Given the description of an element on the screen output the (x, y) to click on. 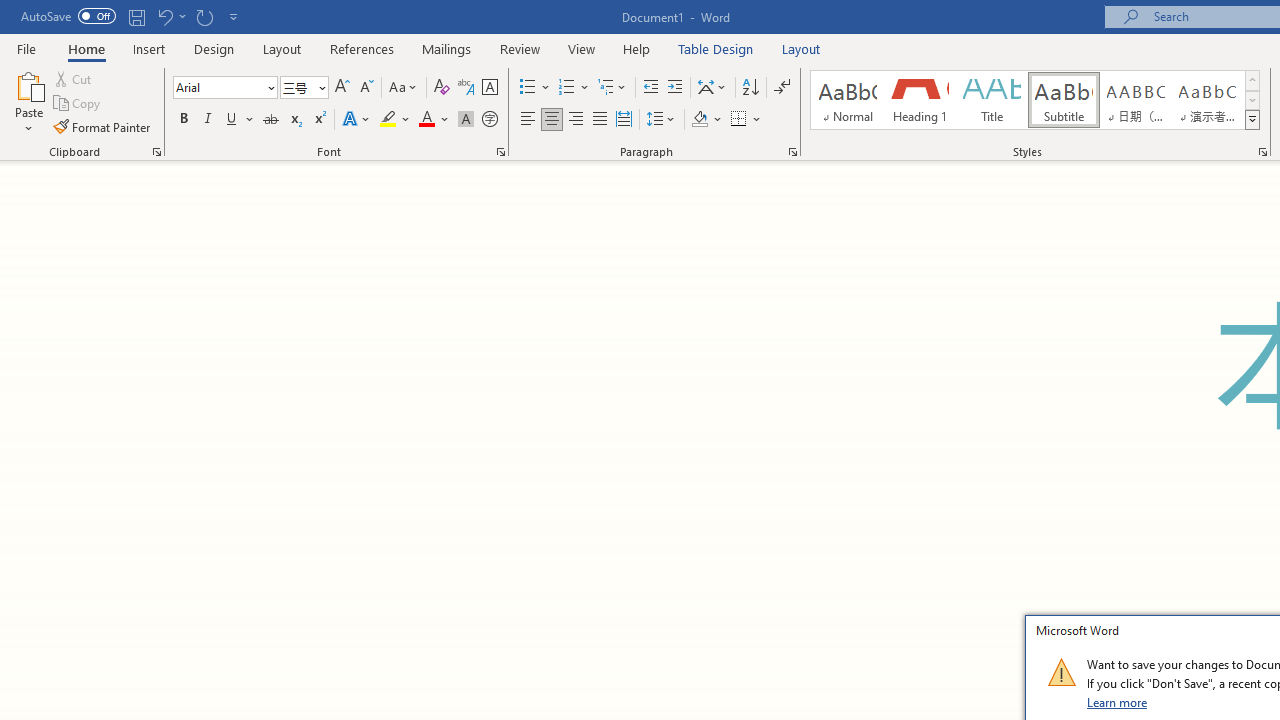
Undo Paste (164, 15)
Heading 1 (920, 100)
Font Size (304, 87)
Bullets (535, 87)
Center (552, 119)
Open (320, 87)
Justify (599, 119)
Grow Font (342, 87)
Font Color (434, 119)
Styles (1252, 120)
Change Case (404, 87)
Home (86, 48)
